Given the description of an element on the screen output the (x, y) to click on. 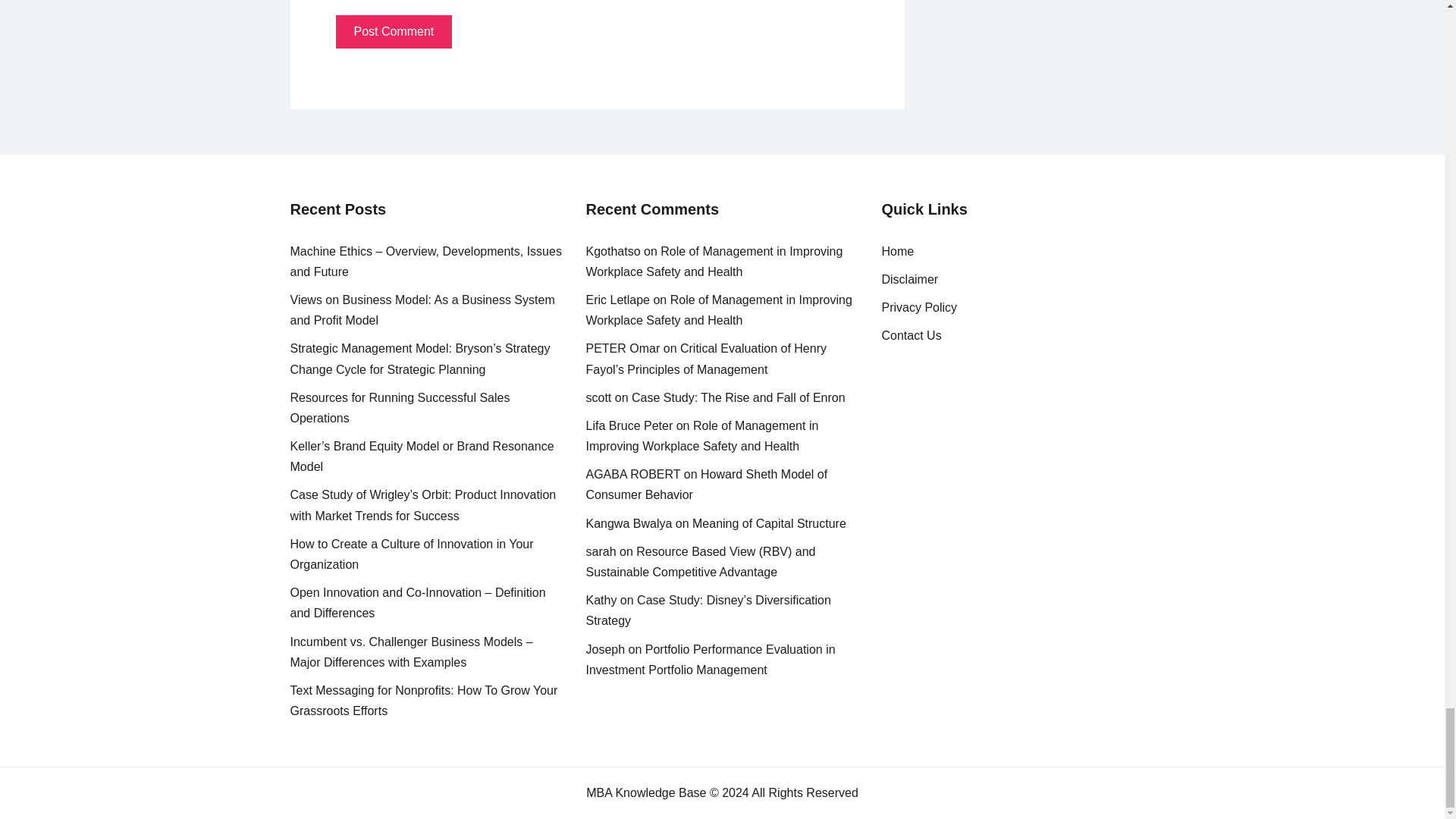
Post Comment (392, 31)
